Given the description of an element on the screen output the (x, y) to click on. 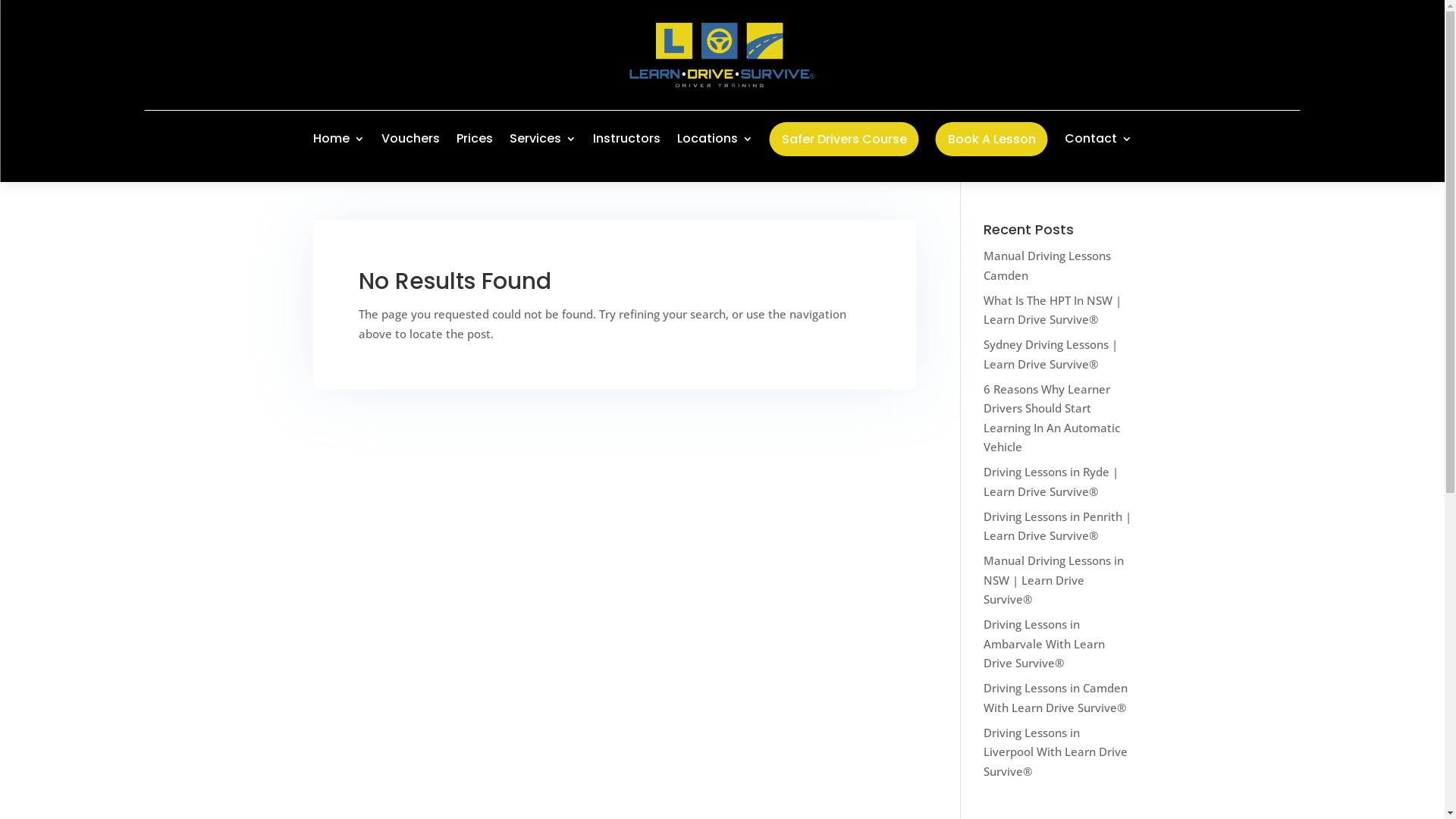
Manual Driving Lessons Camden Element type: text (1046, 264)
Safer Drivers Course Element type: text (843, 139)
LEARN DRIVE SURVIVE.png Element type: hover (722, 54)
Vouchers Element type: text (409, 138)
Prices Element type: text (474, 138)
Contact Element type: text (1098, 138)
Home Element type: text (338, 138)
Instructors Element type: text (626, 138)
Services Element type: text (542, 138)
Book A Lesson Element type: text (991, 139)
Locations Element type: text (714, 138)
